Given the description of an element on the screen output the (x, y) to click on. 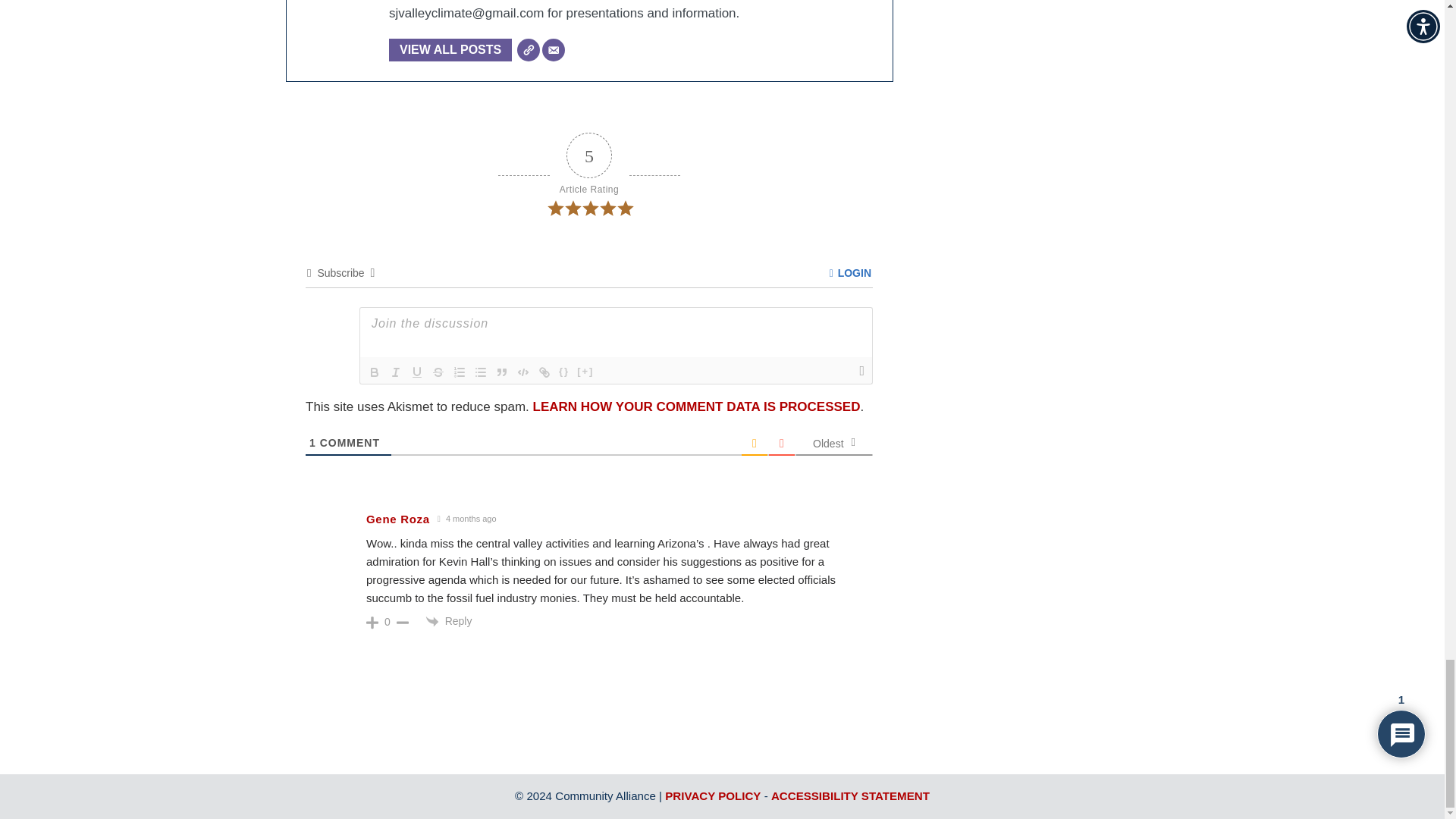
View all posts (450, 49)
Unordered List (481, 372)
Italic (395, 372)
Ordered List (459, 372)
Bold (374, 372)
Underline (417, 372)
Strike (438, 372)
